Given the description of an element on the screen output the (x, y) to click on. 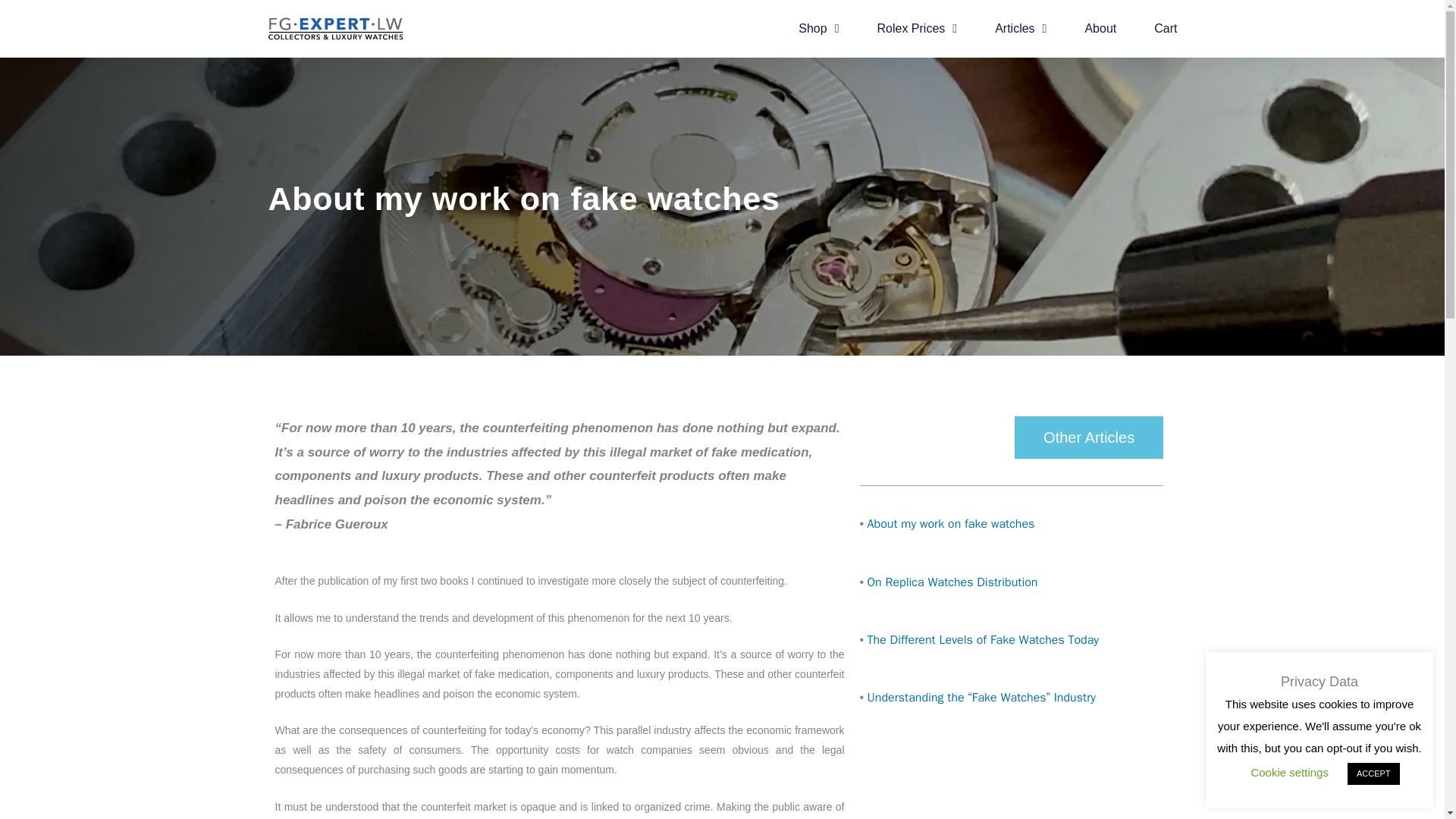
Rolex Prices (916, 28)
Articles (1020, 28)
About (1100, 28)
Shop (817, 28)
